Given the description of an element on the screen output the (x, y) to click on. 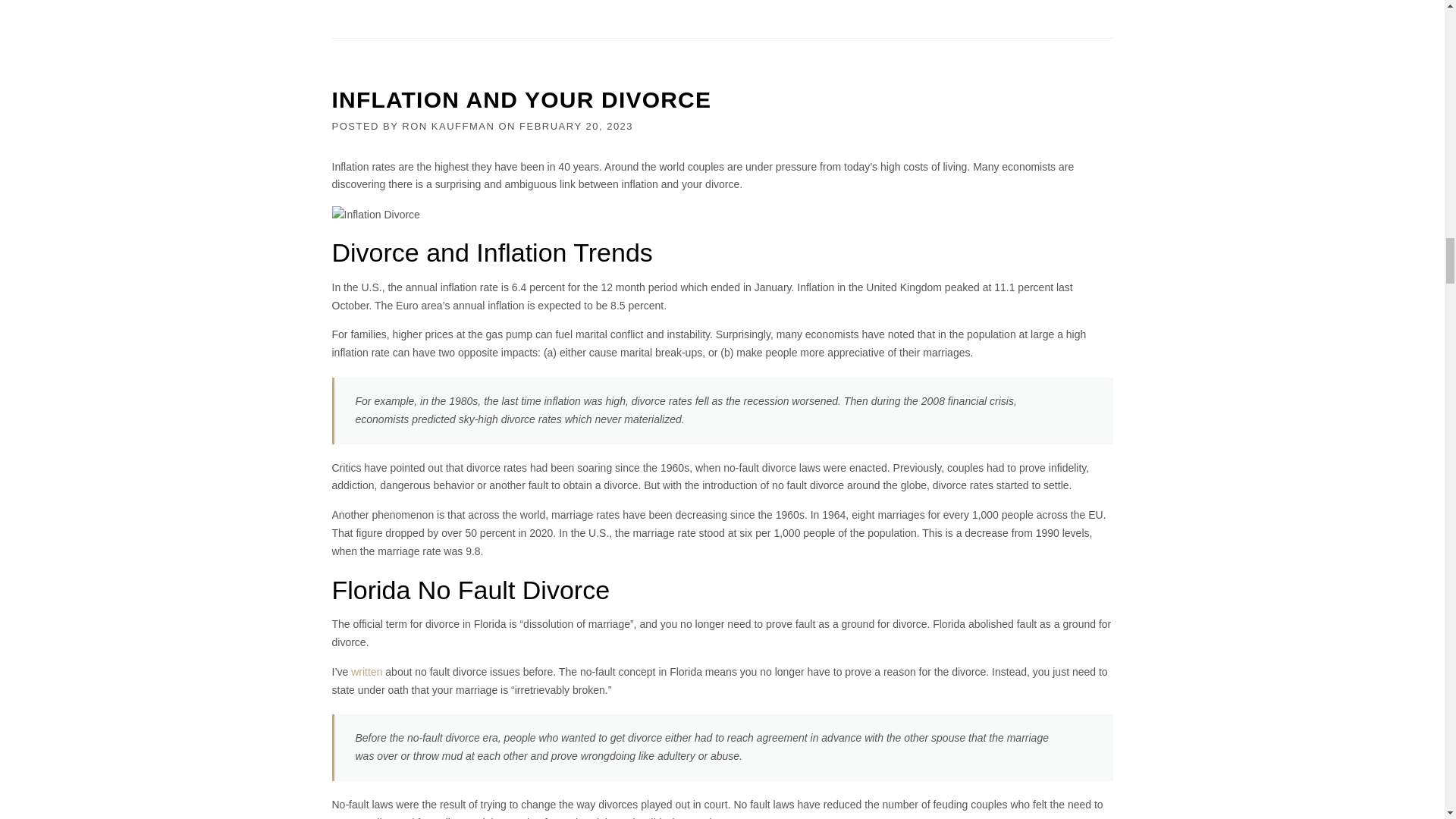
Inflation Divorce (375, 215)
